Given the description of an element on the screen output the (x, y) to click on. 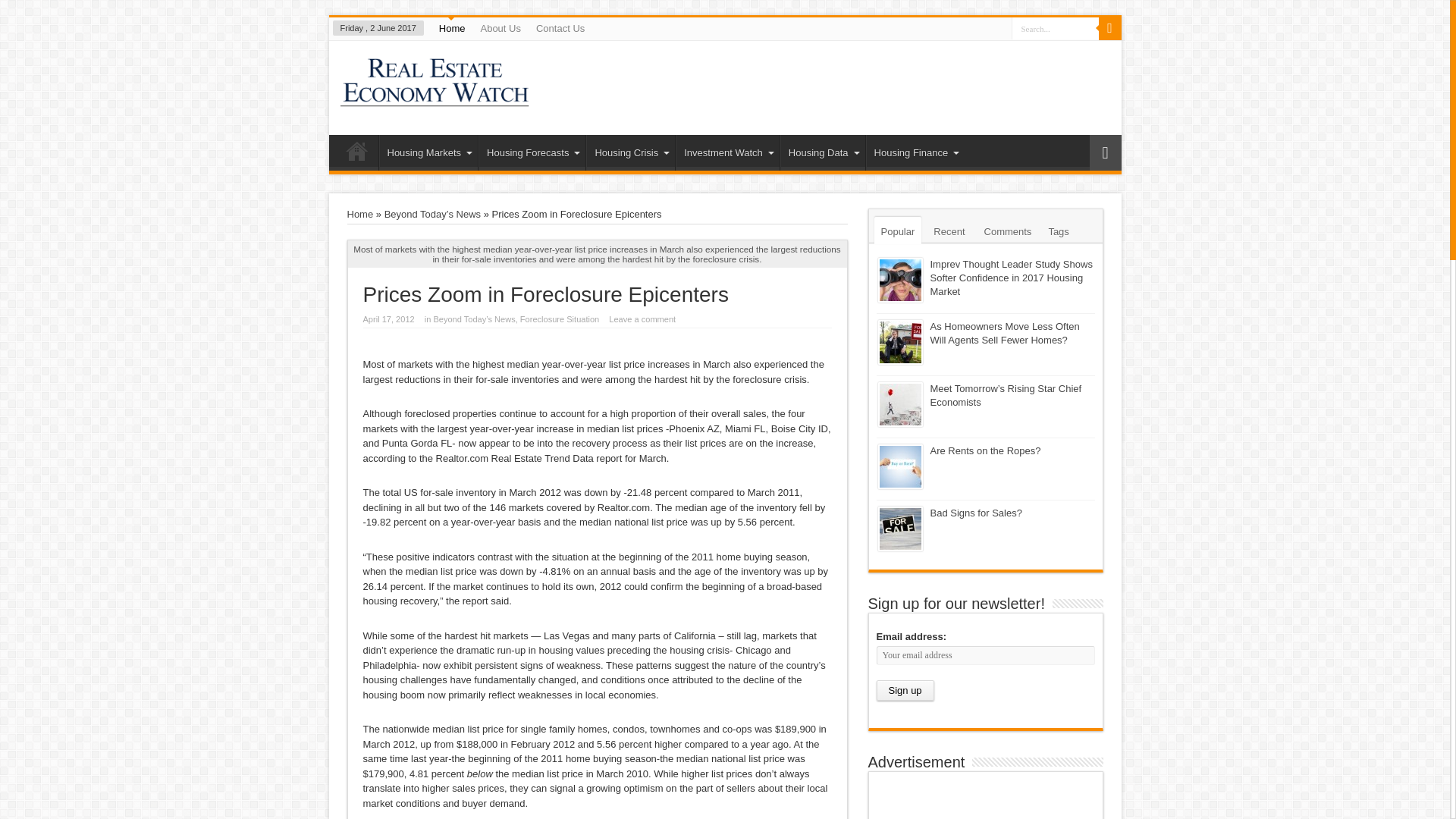
Housing Crisis (630, 152)
Search (1109, 28)
Investment Watch (726, 152)
View all posts in Beyond Today's News (473, 318)
Foreclosure Situation (558, 318)
Contact Us (560, 28)
Leave a comment (641, 318)
Housing Data (822, 152)
View all posts in Beyond Today's News (432, 214)
Home (451, 28)
About Us (499, 28)
Housing Markets (428, 152)
Home (360, 214)
Housing Finance (915, 152)
View all posts in Foreclosure Situation (558, 318)
